Given the description of an element on the screen output the (x, y) to click on. 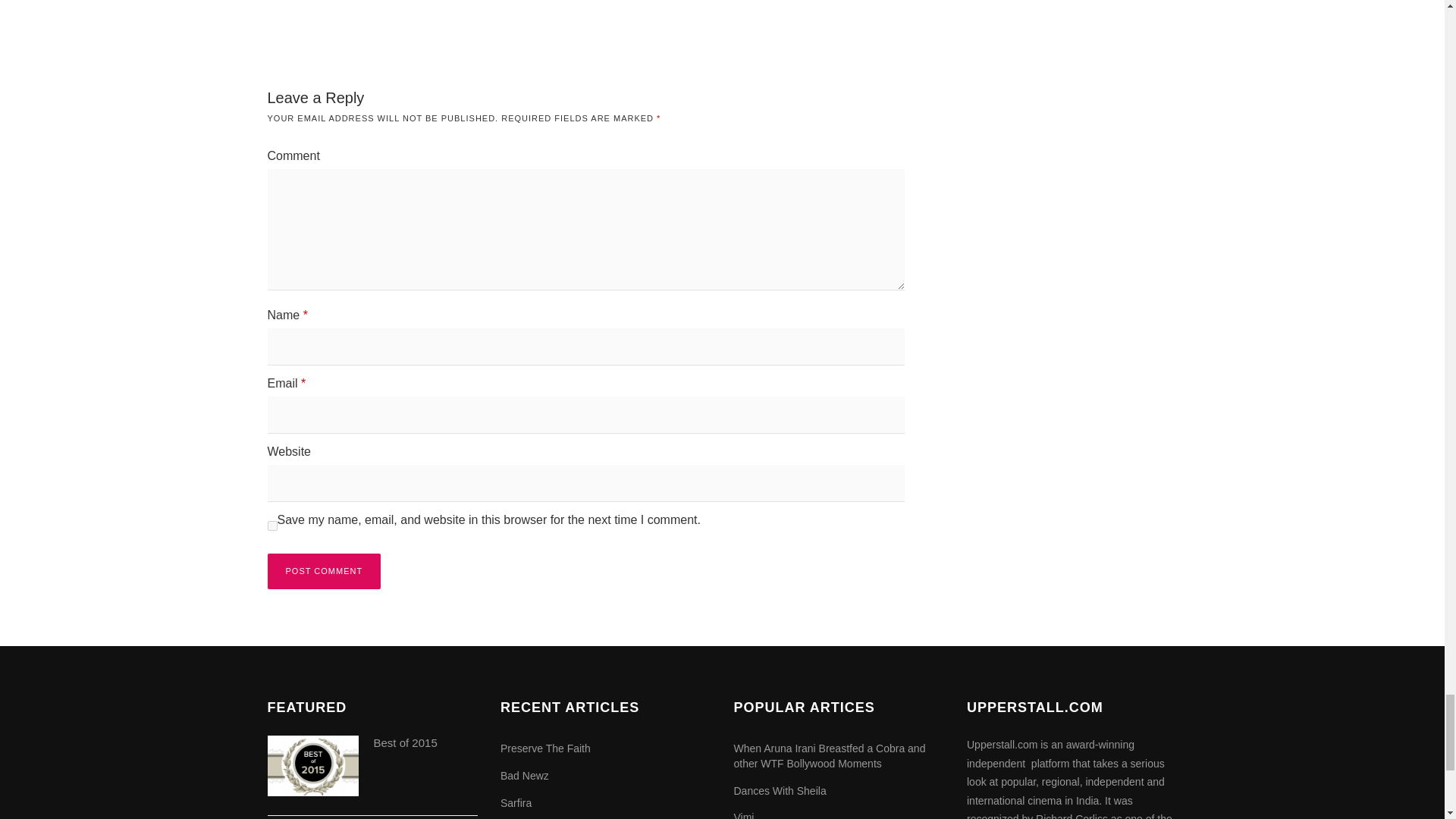
Post Comment (323, 570)
yes (271, 525)
